Given the description of an element on the screen output the (x, y) to click on. 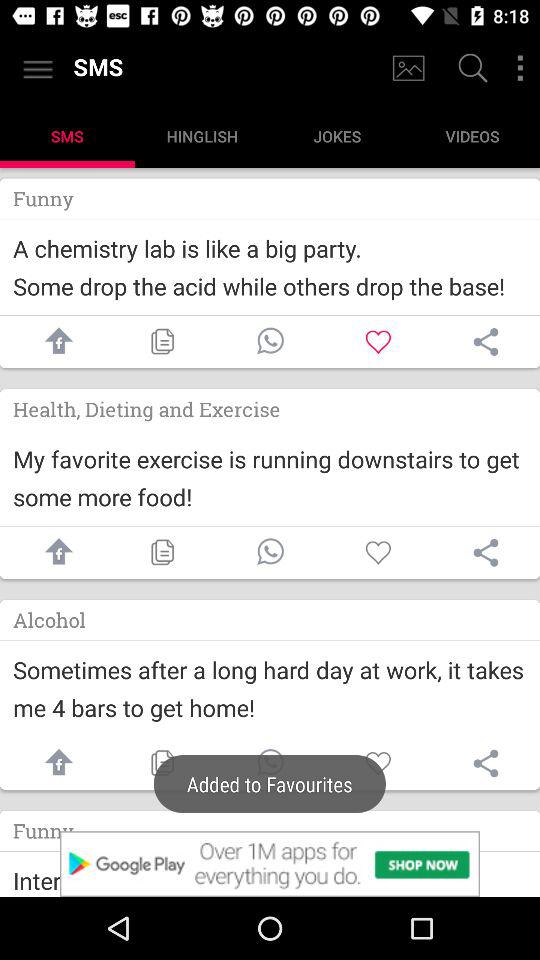
share button (486, 763)
